Given the description of an element on the screen output the (x, y) to click on. 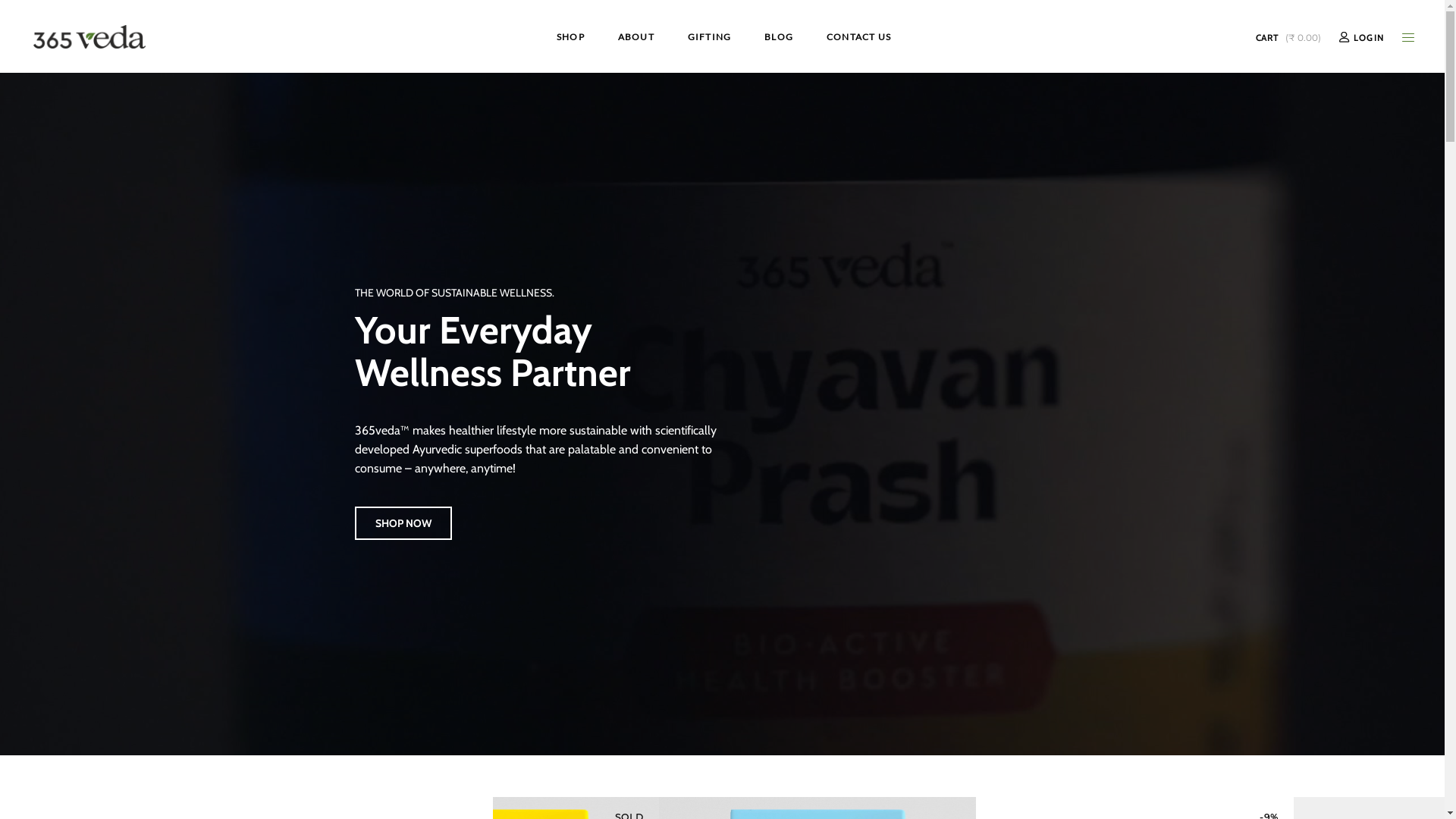
SHOP Element type: text (570, 36)
LOGIN Element type: text (1361, 37)
SHOP NOW Element type: text (402, 522)
CONTACT US Element type: text (858, 36)
GIFTING Element type: text (709, 36)
BLOG Element type: text (778, 36)
ABOUT Element type: text (636, 36)
